Given the description of an element on the screen output the (x, y) to click on. 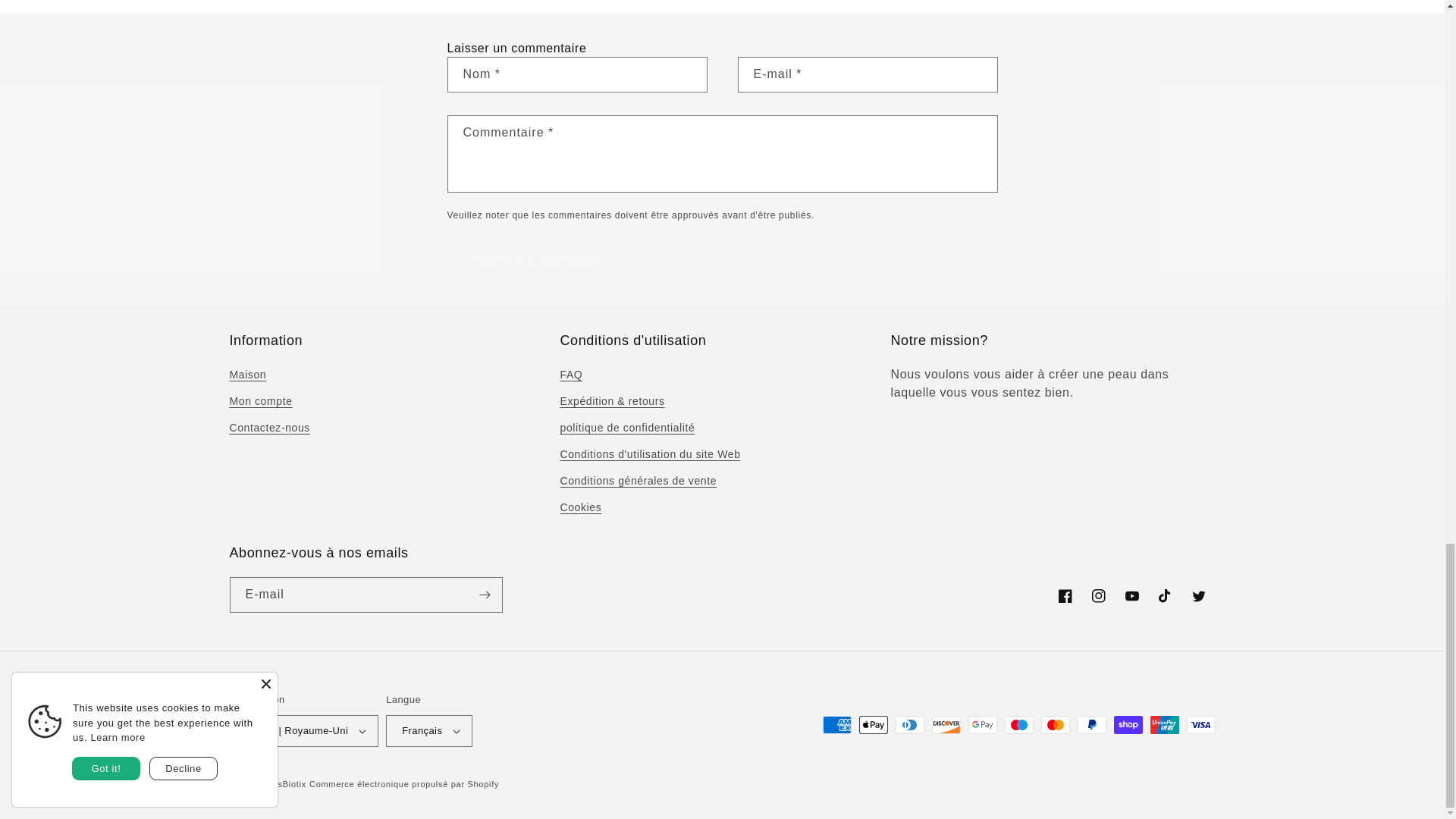
Publier le commentaire (536, 259)
